Given the description of an element on the screen output the (x, y) to click on. 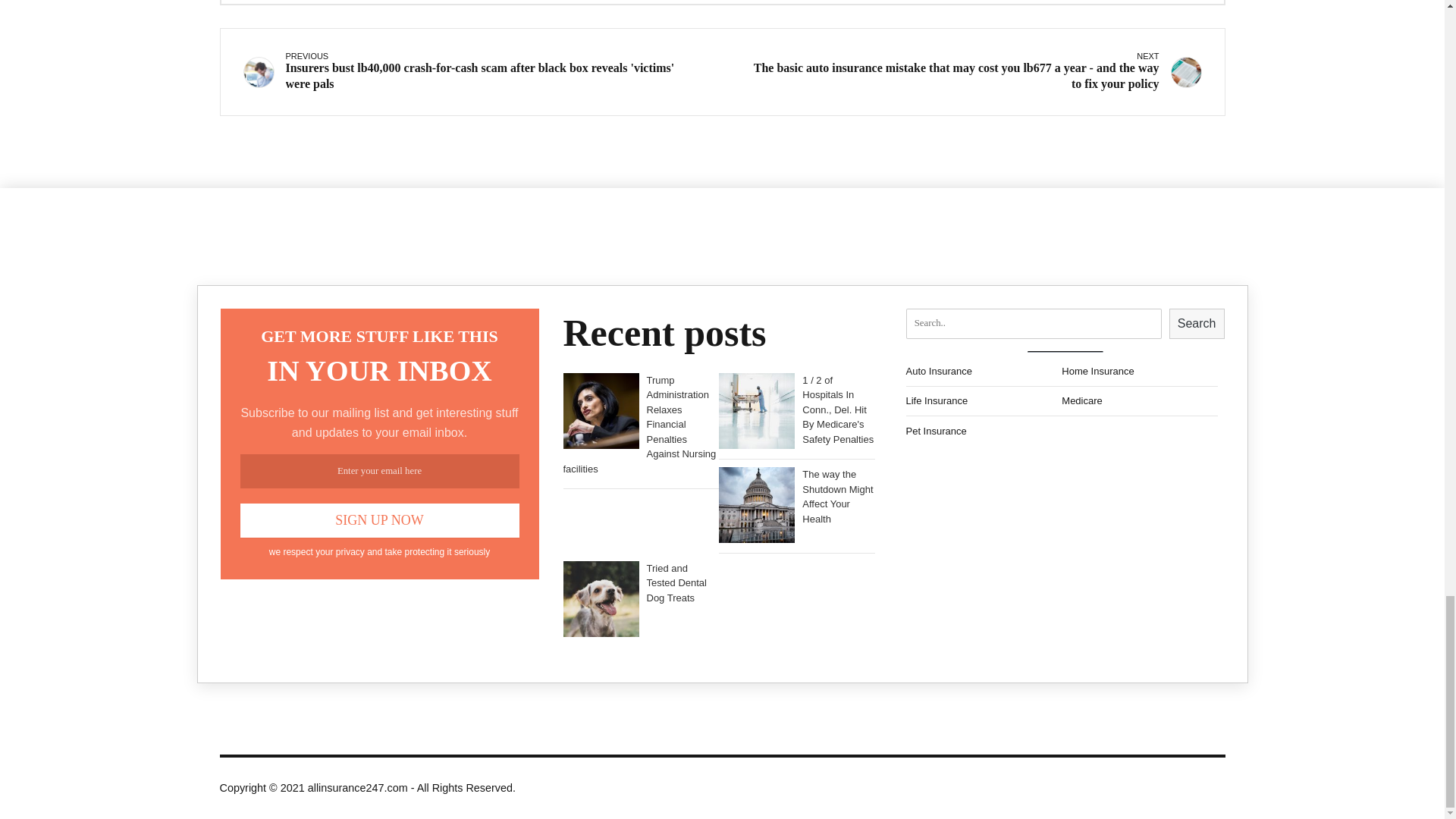
Sign Up Now (379, 520)
The way the Shutdown Might Affect Your Health (797, 497)
Auto Insurance (983, 371)
Search (1196, 323)
Tried and Tested Dental Dog Treats (640, 585)
Sign Up Now (379, 520)
